Given the description of an element on the screen output the (x, y) to click on. 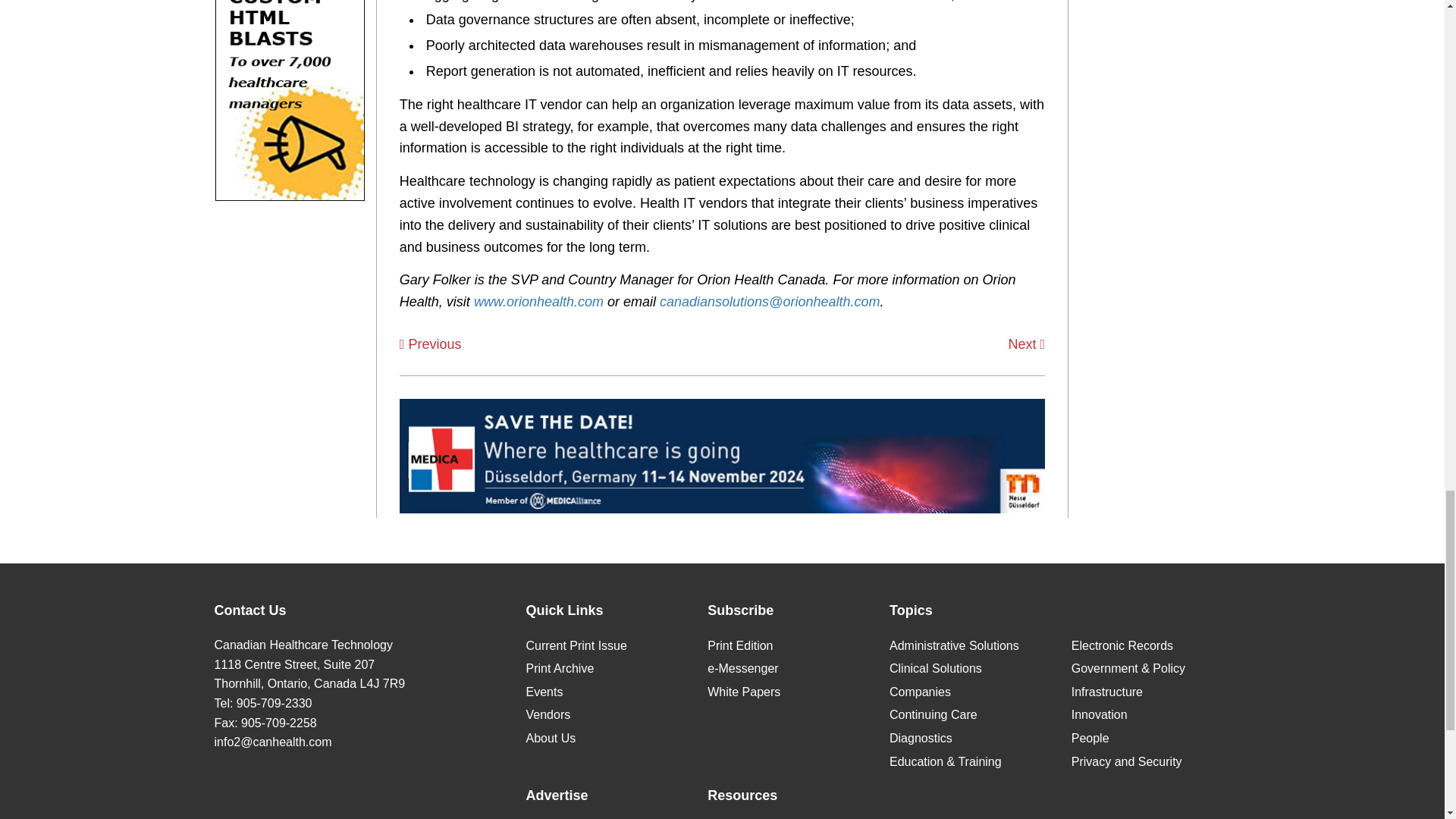
Next (1027, 343)
www.orionhealth.com (539, 301)
Previous (429, 343)
